Given the description of an element on the screen output the (x, y) to click on. 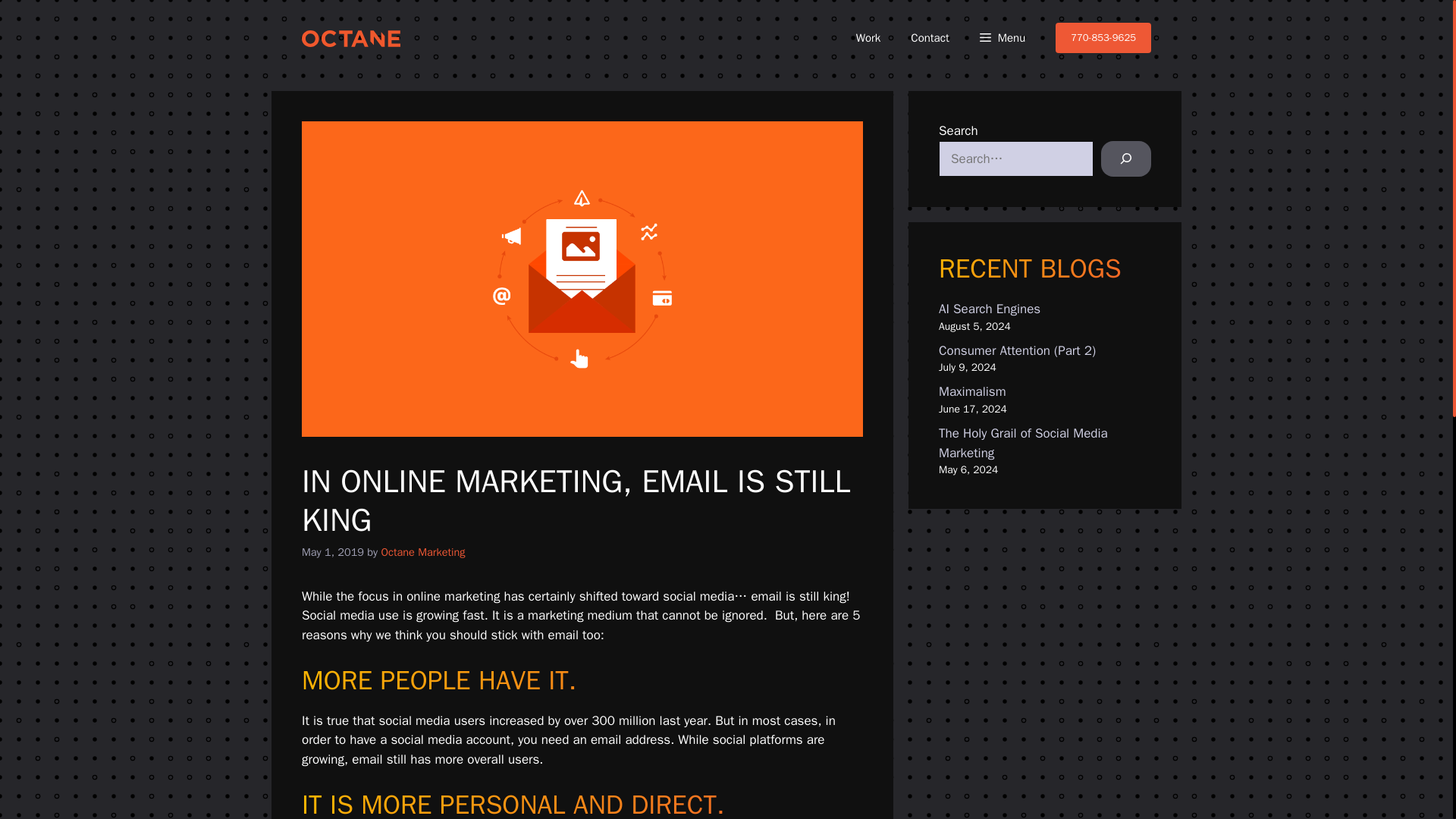
770-853-9625 (1103, 37)
Maximalism (972, 391)
Octane Marketing (422, 551)
Menu (1002, 37)
AI Search Engines (990, 308)
Contact (929, 37)
Work (868, 37)
View all posts by Octane Marketing (422, 551)
The Holy Grail of Social Media Marketing (1023, 443)
